Given the description of an element on the screen output the (x, y) to click on. 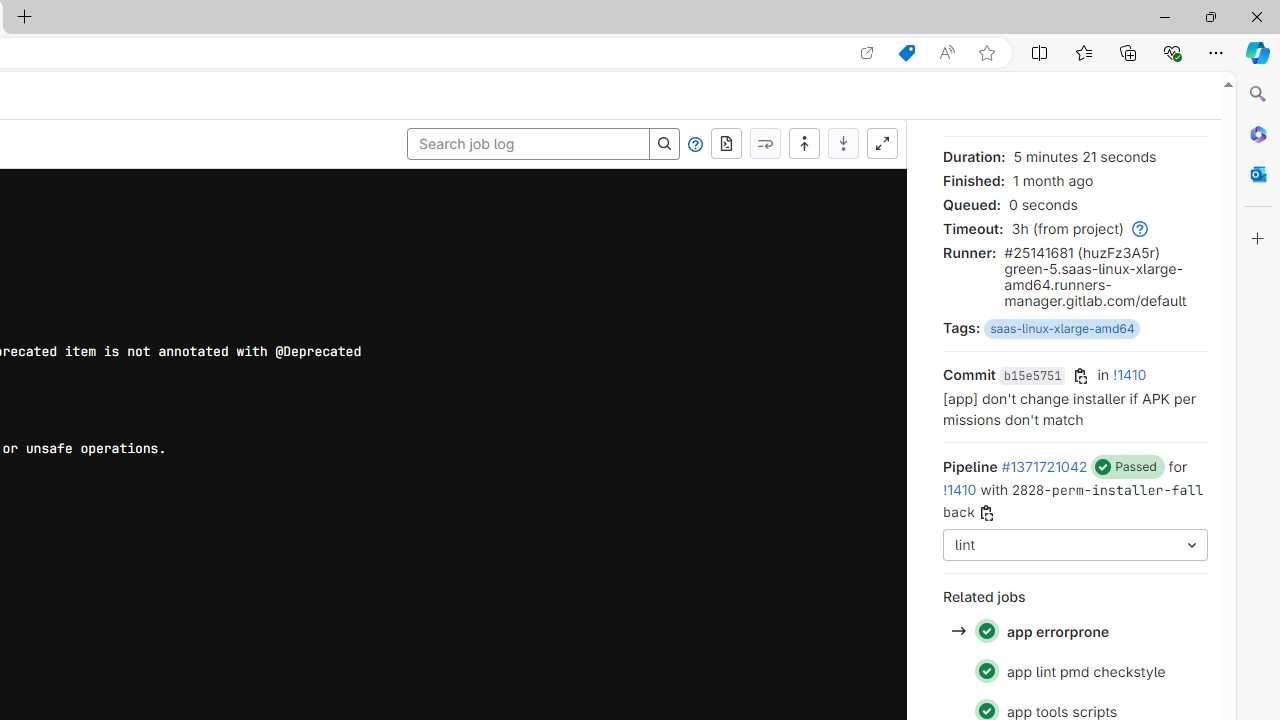
Status: Passed (986, 671)
Class: gl-link (1137, 228)
Scroll to top (804, 143)
Show full screen (882, 143)
Open in app (867, 53)
